Given the description of an element on the screen output the (x, y) to click on. 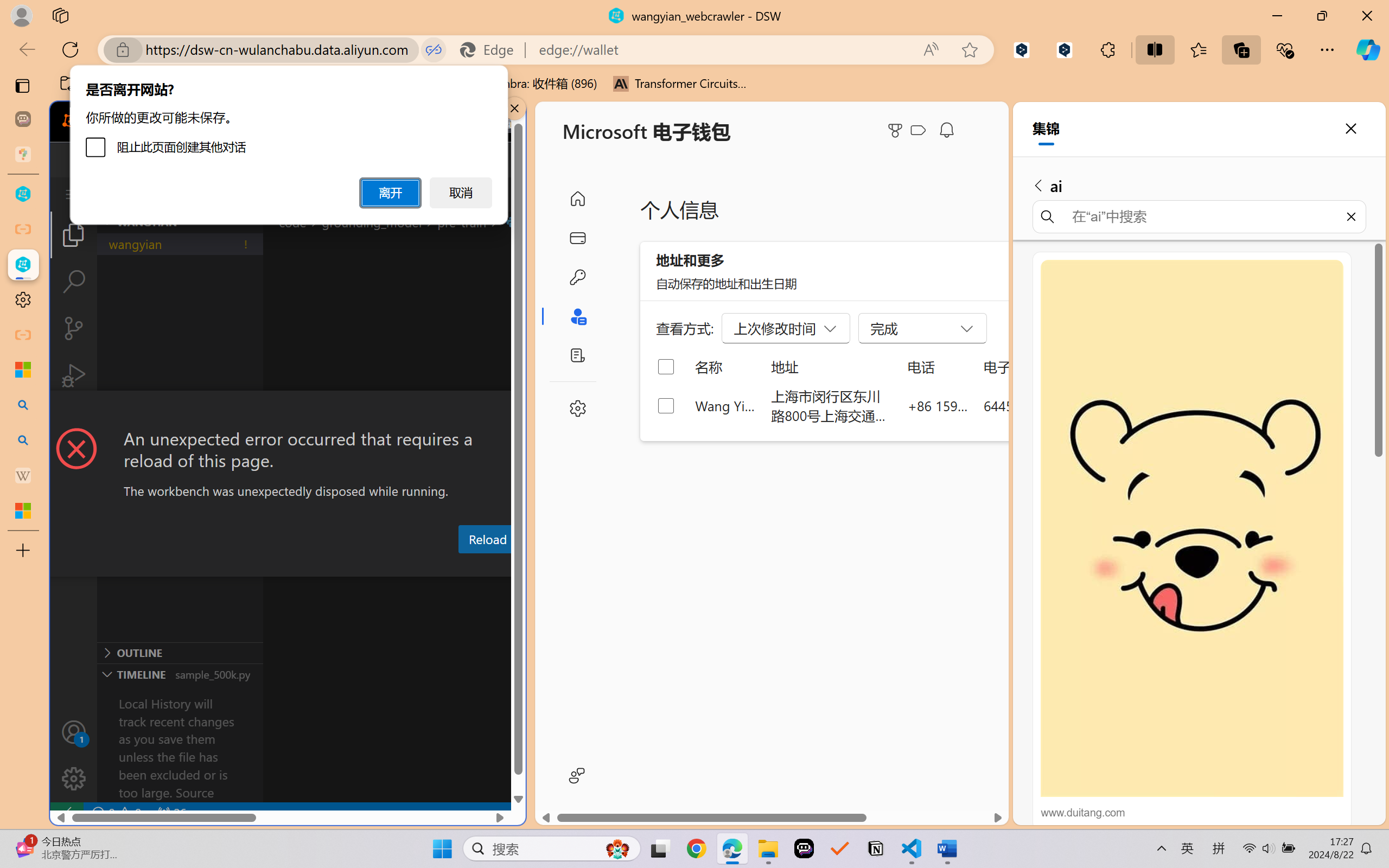
Timeline Section (179, 673)
Run and Debug (Ctrl+Shift+D) (73, 375)
Extensions (Ctrl+Shift+X) (73, 422)
